Given the description of an element on the screen output the (x, y) to click on. 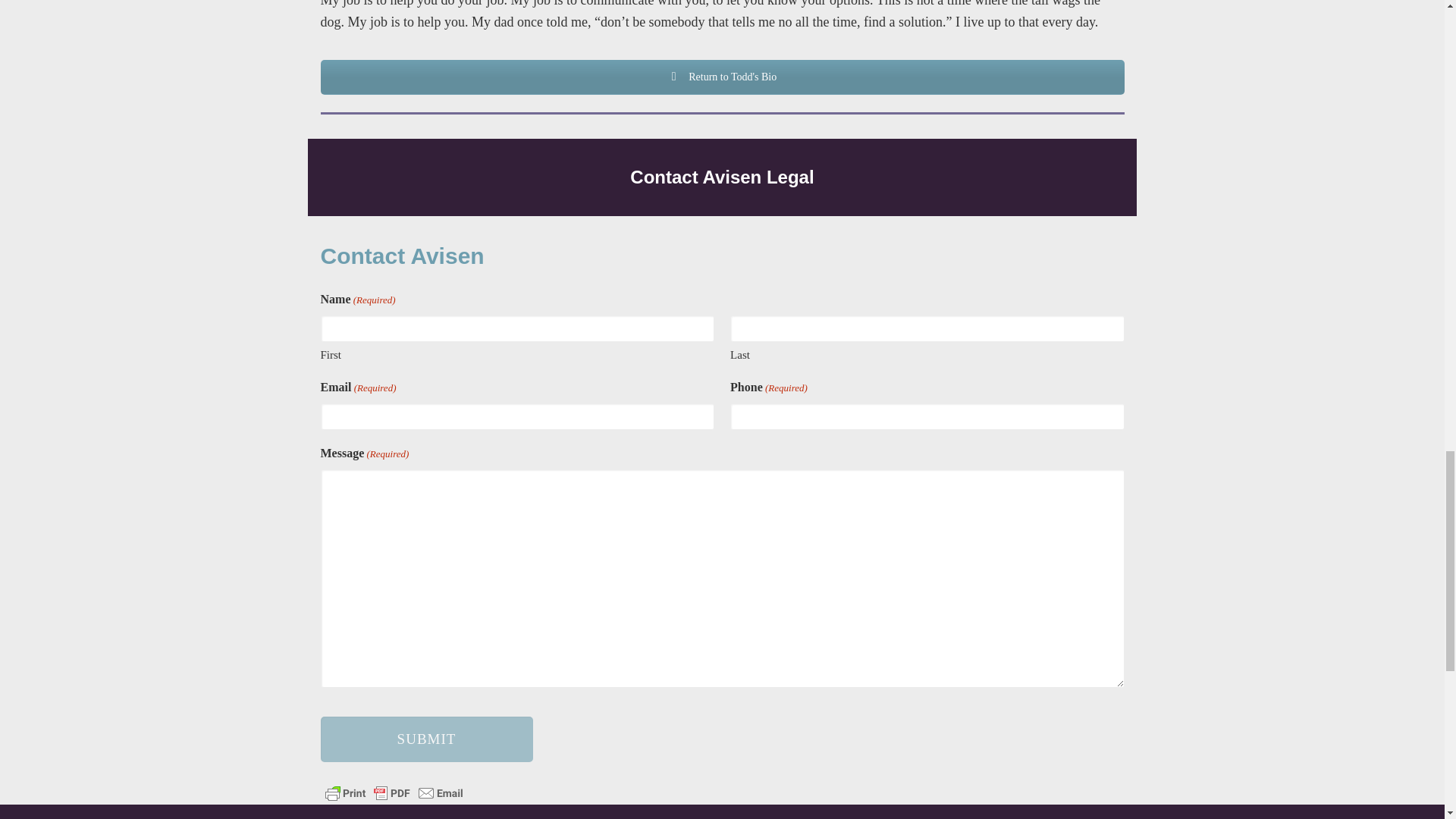
Submit (426, 739)
